Given the description of an element on the screen output the (x, y) to click on. 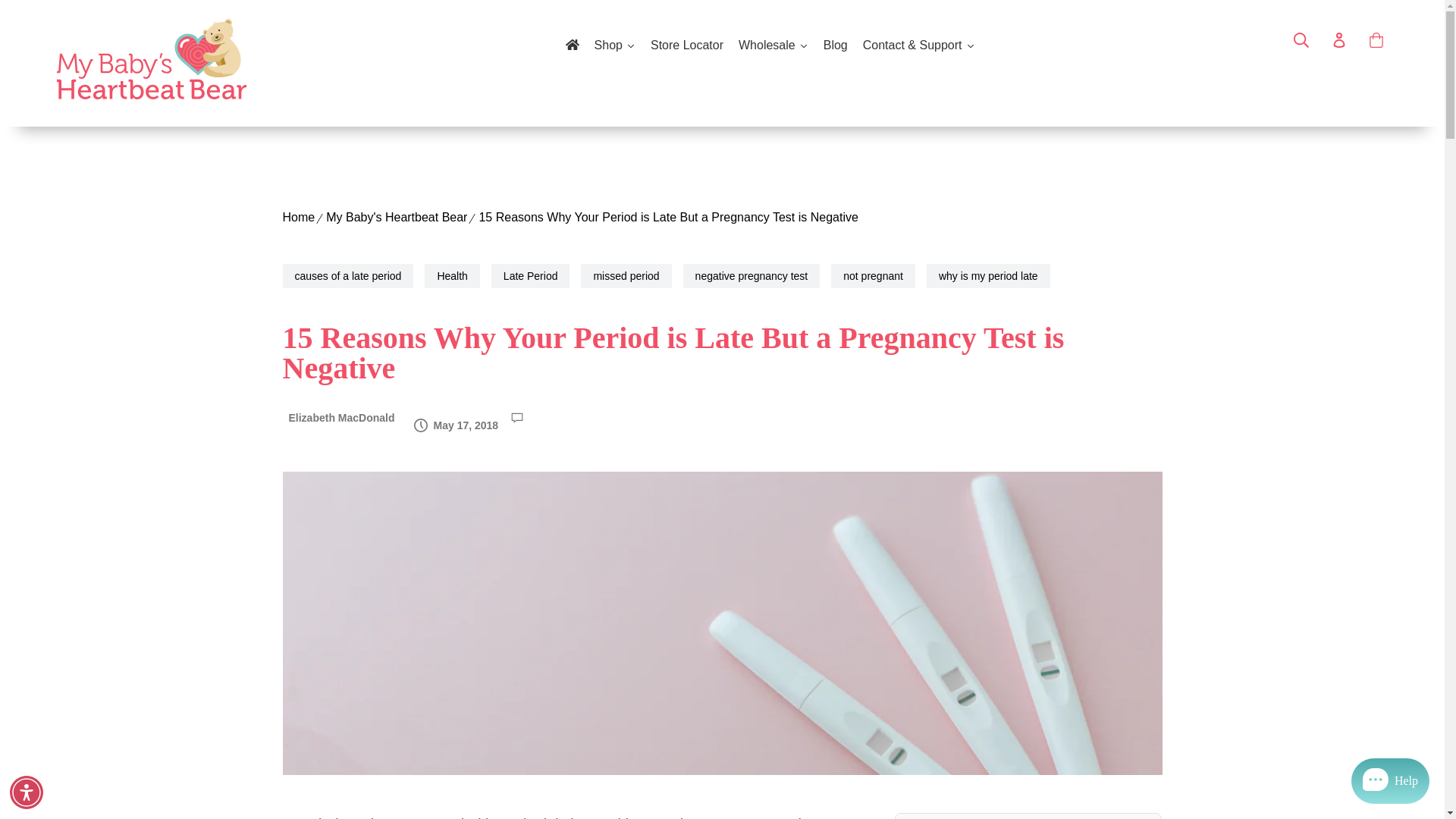
Blog (835, 45)
Shop (614, 45)
Shop (614, 45)
Store Locator (686, 45)
My Baby's Heartbeat Bear (396, 217)
Blog (835, 45)
not pregnant (873, 275)
Wholesale (772, 45)
Accessibility Menu (26, 792)
missed period (625, 275)
why is my period late (987, 275)
negative pregnancy test (751, 275)
Late Period (531, 275)
Home (298, 217)
Store Locator (686, 45)
